Given the description of an element on the screen output the (x, y) to click on. 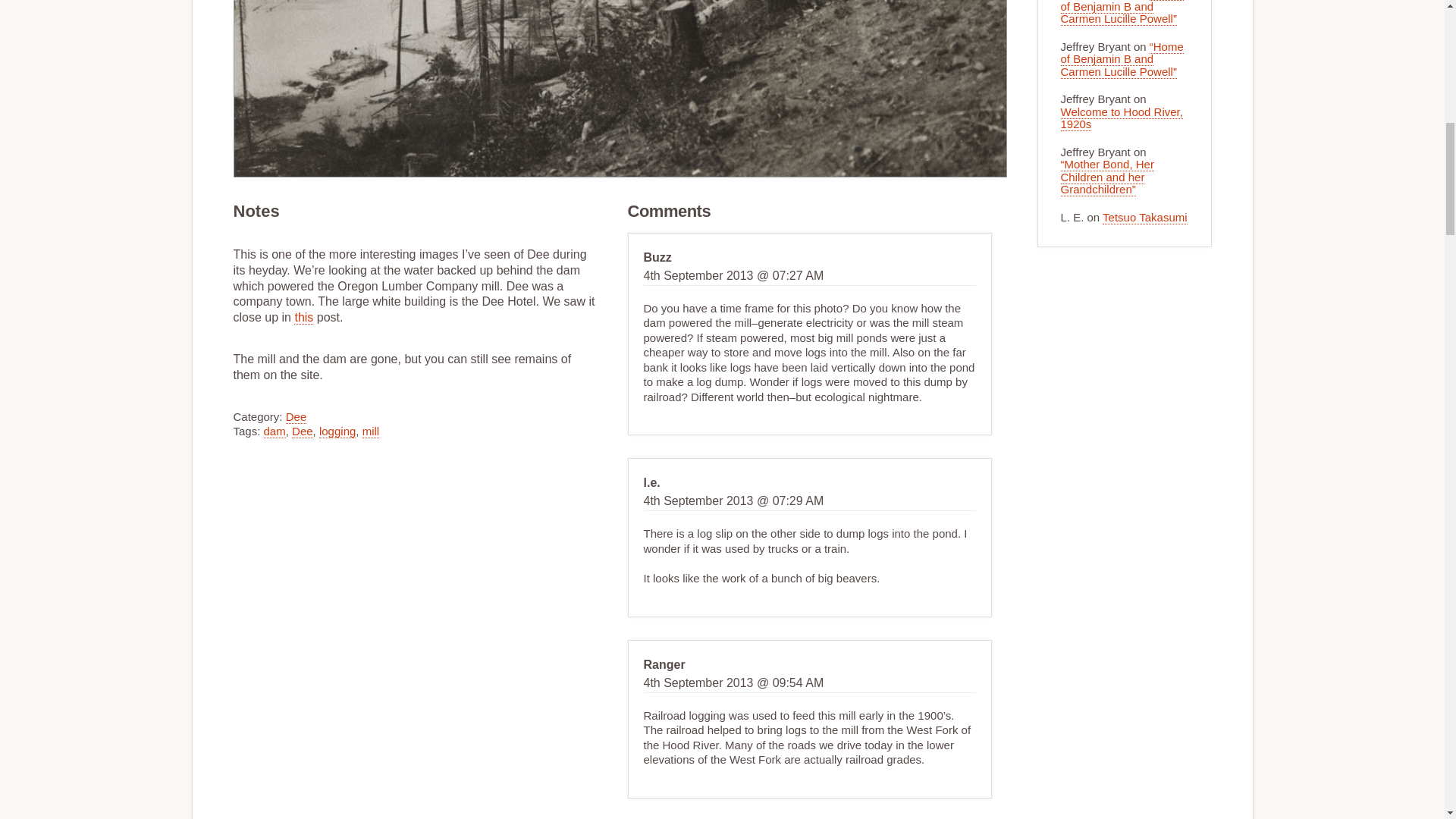
this (303, 317)
